Given the description of an element on the screen output the (x, y) to click on. 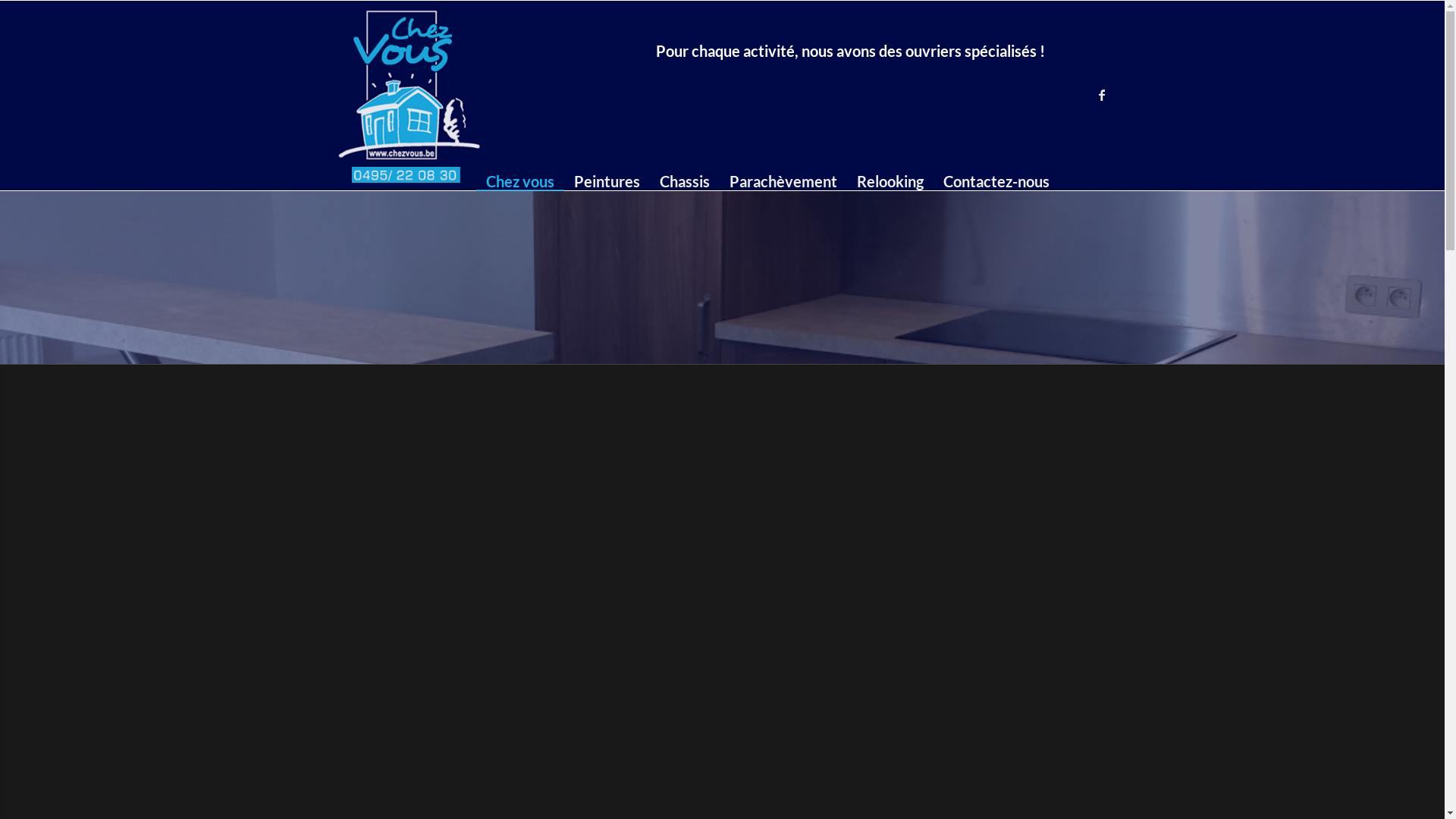
Contactez-nous Element type: text (995, 95)
Peintures Element type: text (606, 95)
Facebook Element type: hover (1101, 94)
Relooking Element type: text (889, 95)
Chassis Element type: text (683, 95)
Chez vous Element type: text (520, 95)
Logo Element type: hover (409, 95)
